Given the description of an element on the screen output the (x, y) to click on. 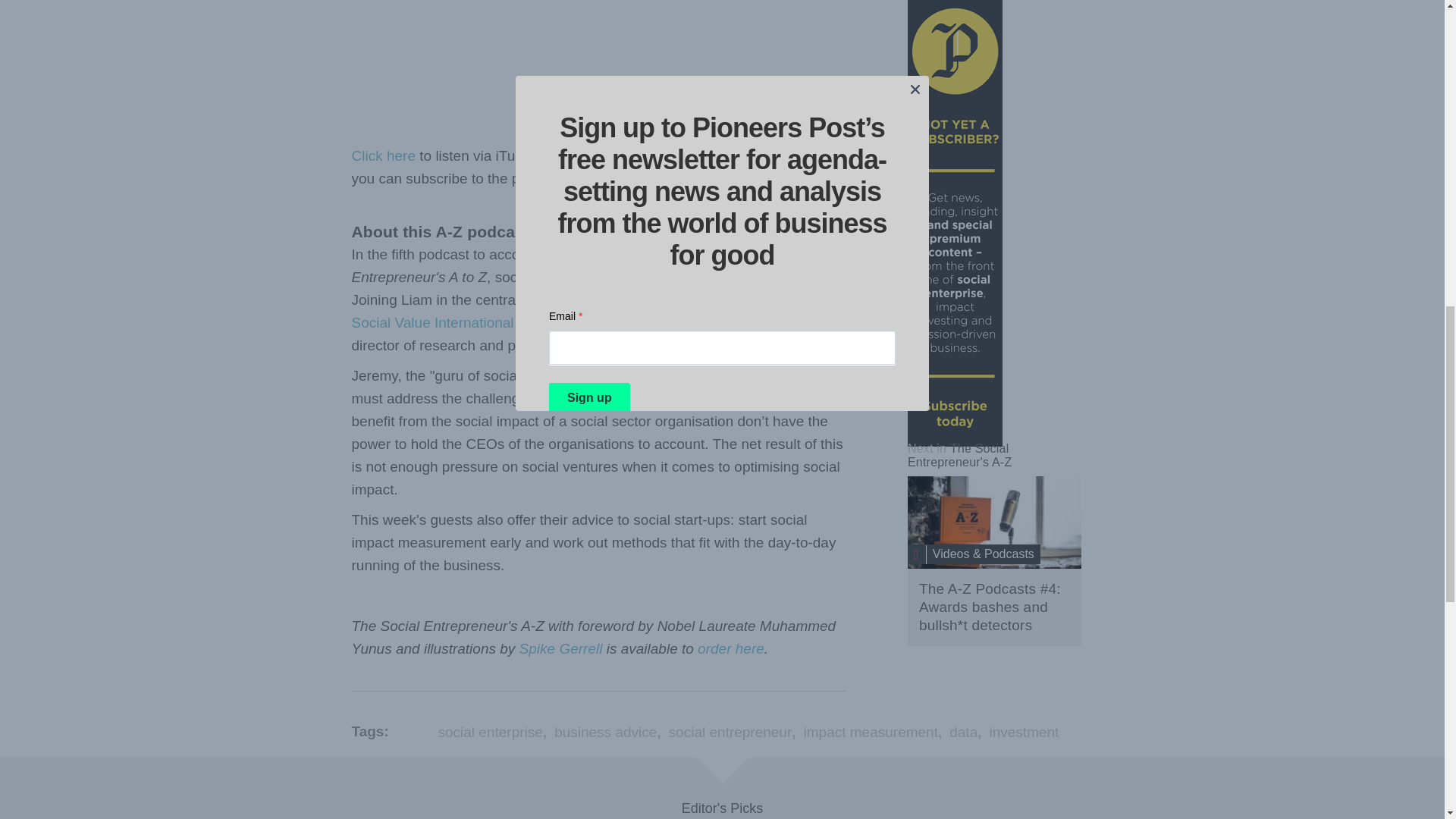
The Social Entrepreneur (959, 455)
business advice (605, 731)
Click here (383, 155)
Social Value International (432, 322)
social entrepreneur (730, 731)
impact measurement (870, 731)
The Social Entrepreneur's A-Z (959, 455)
Spike Gerrell (560, 648)
order here (730, 648)
social enterprise (490, 731)
data (962, 731)
investment (1023, 731)
A-Z podcast (994, 521)
UnLtd (583, 344)
